Given the description of an element on the screen output the (x, y) to click on. 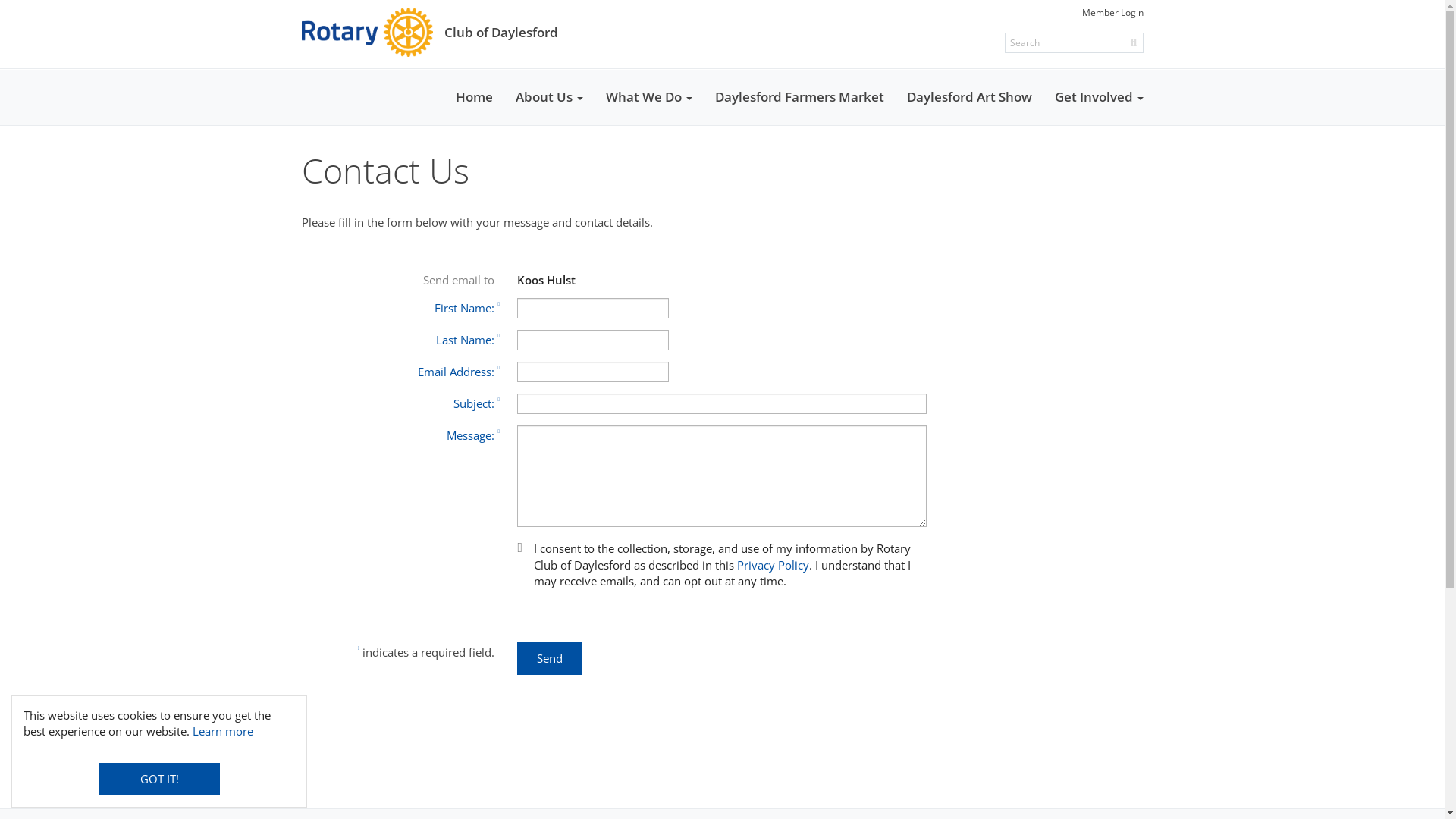
Home Element type: text (474, 96)
Member Login Element type: text (1111, 12)
Daylesford Farmers Market Element type: text (799, 96)
Club of Daylesford Element type: text (429, 31)
Send Element type: text (549, 658)
What We Do Element type: text (648, 96)
GOT IT! Element type: text (158, 778)
Privacy Policy Element type: text (773, 564)
About Us Element type: text (548, 96)
Get Involved Element type: text (1098, 96)
Daylesford Art Show Element type: text (968, 96)
Learn more Element type: text (222, 730)
